Given the description of an element on the screen output the (x, y) to click on. 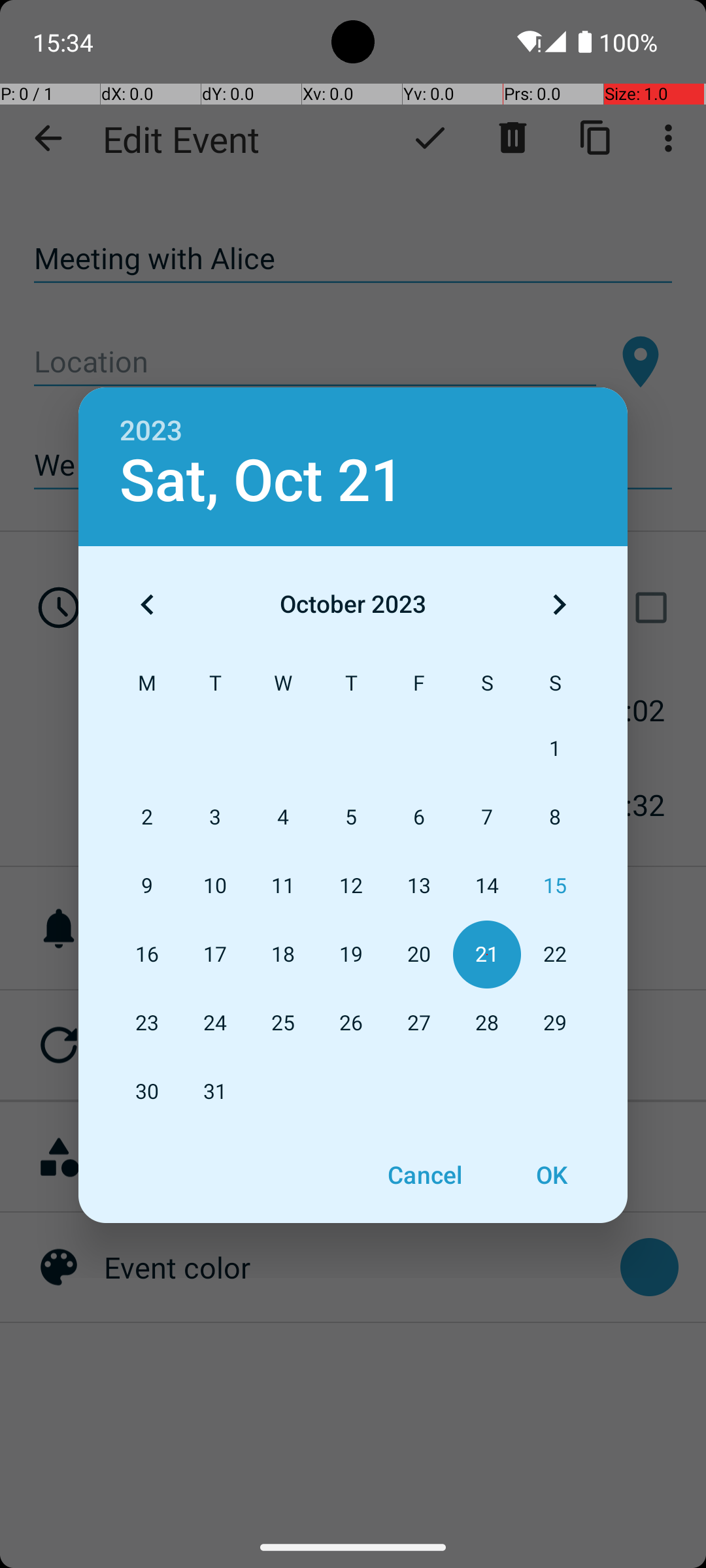
Sat, Oct 21 Element type: android.widget.TextView (261, 480)
